Given the description of an element on the screen output the (x, y) to click on. 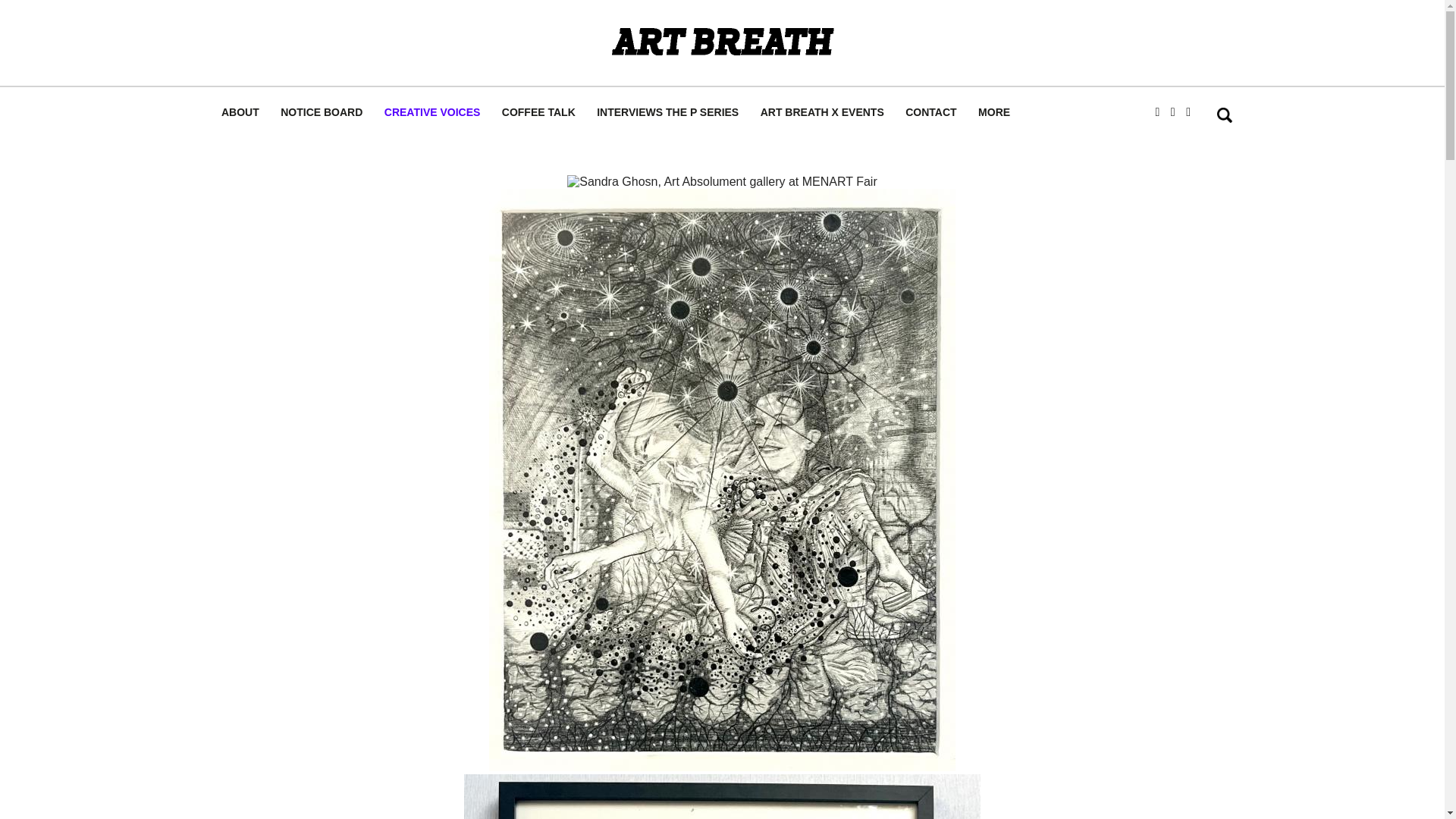
Sandra Ghosn, Art Absolument gallery at MENART Fair (721, 182)
NOTICE BOARD (320, 111)
CREATIVE VOICES (432, 111)
COFFEE TALK (539, 111)
MORE (994, 111)
INTERVIEWS THE P SERIES (668, 111)
ART BREATH X EVENTS (822, 111)
ABOUT (239, 111)
CONTACT (930, 111)
